Given the description of an element on the screen output the (x, y) to click on. 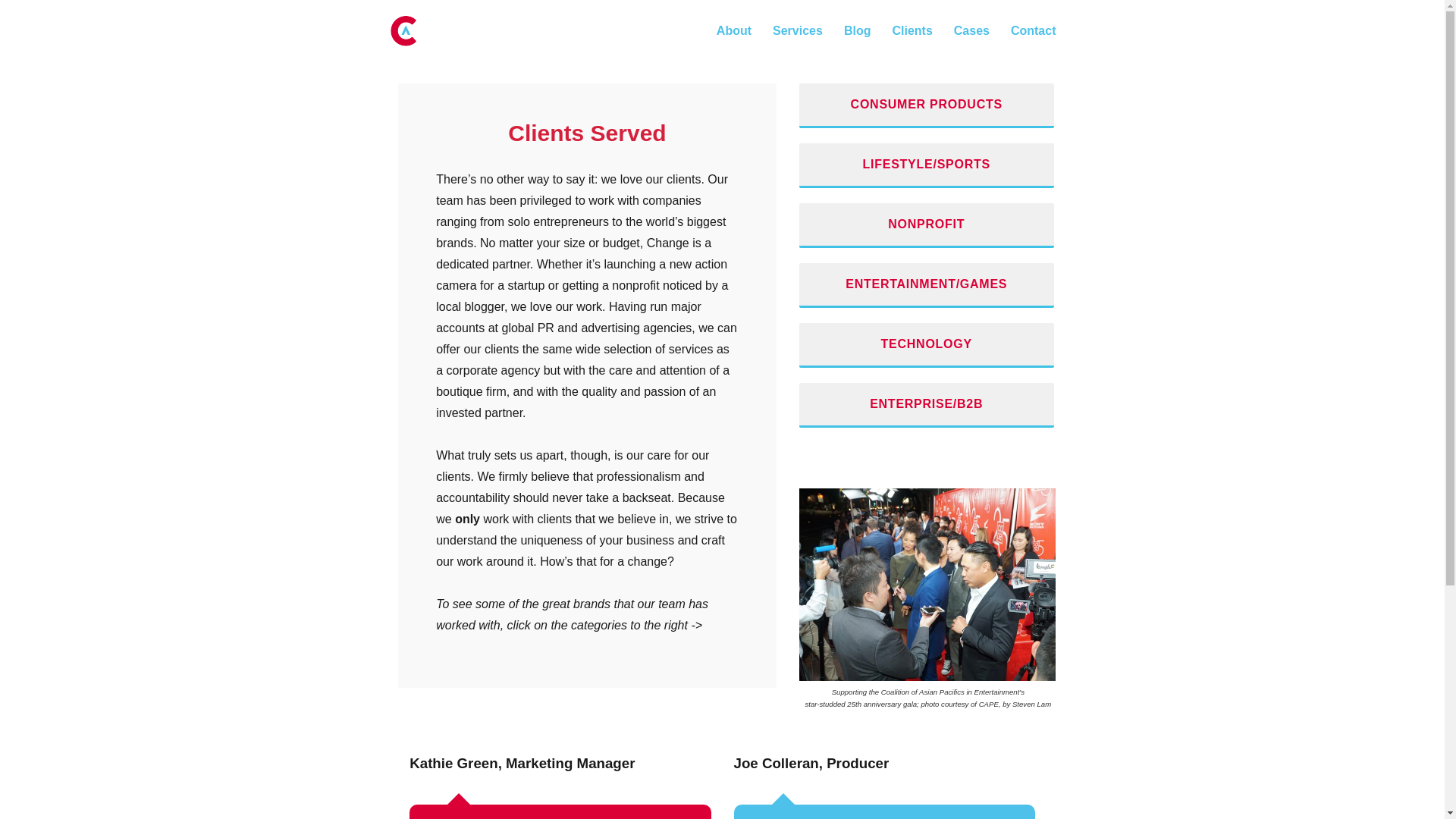
About (733, 29)
Cases (971, 29)
NONPROFIT (926, 225)
Contact (1033, 29)
CONSUMER PRODUCTS (926, 105)
Services (796, 29)
Clients (911, 29)
Blog (857, 29)
